Given the description of an element on the screen output the (x, y) to click on. 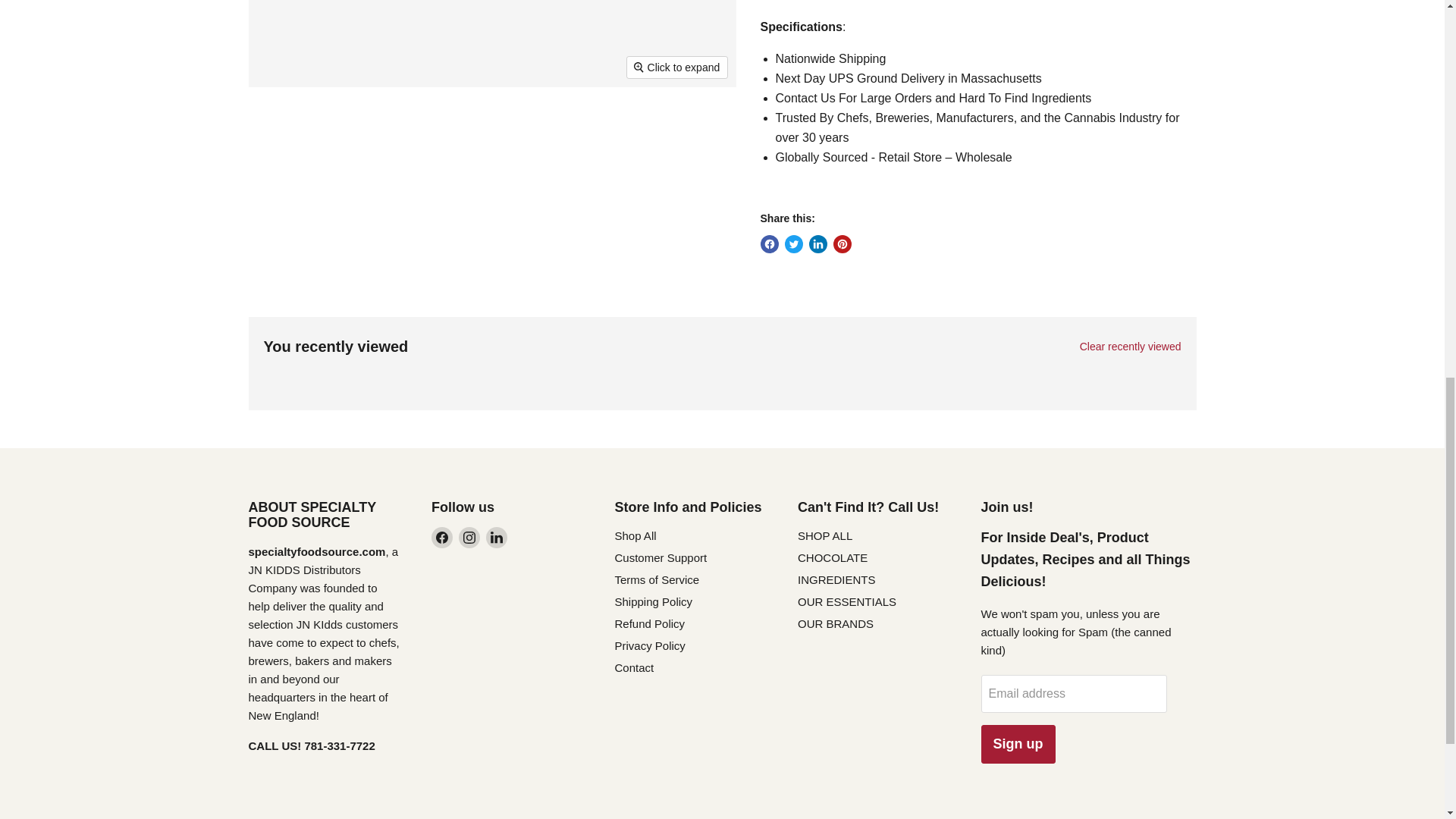
LinkedIn (496, 537)
Instagram (469, 537)
Facebook (441, 537)
